Given the description of an element on the screen output the (x, y) to click on. 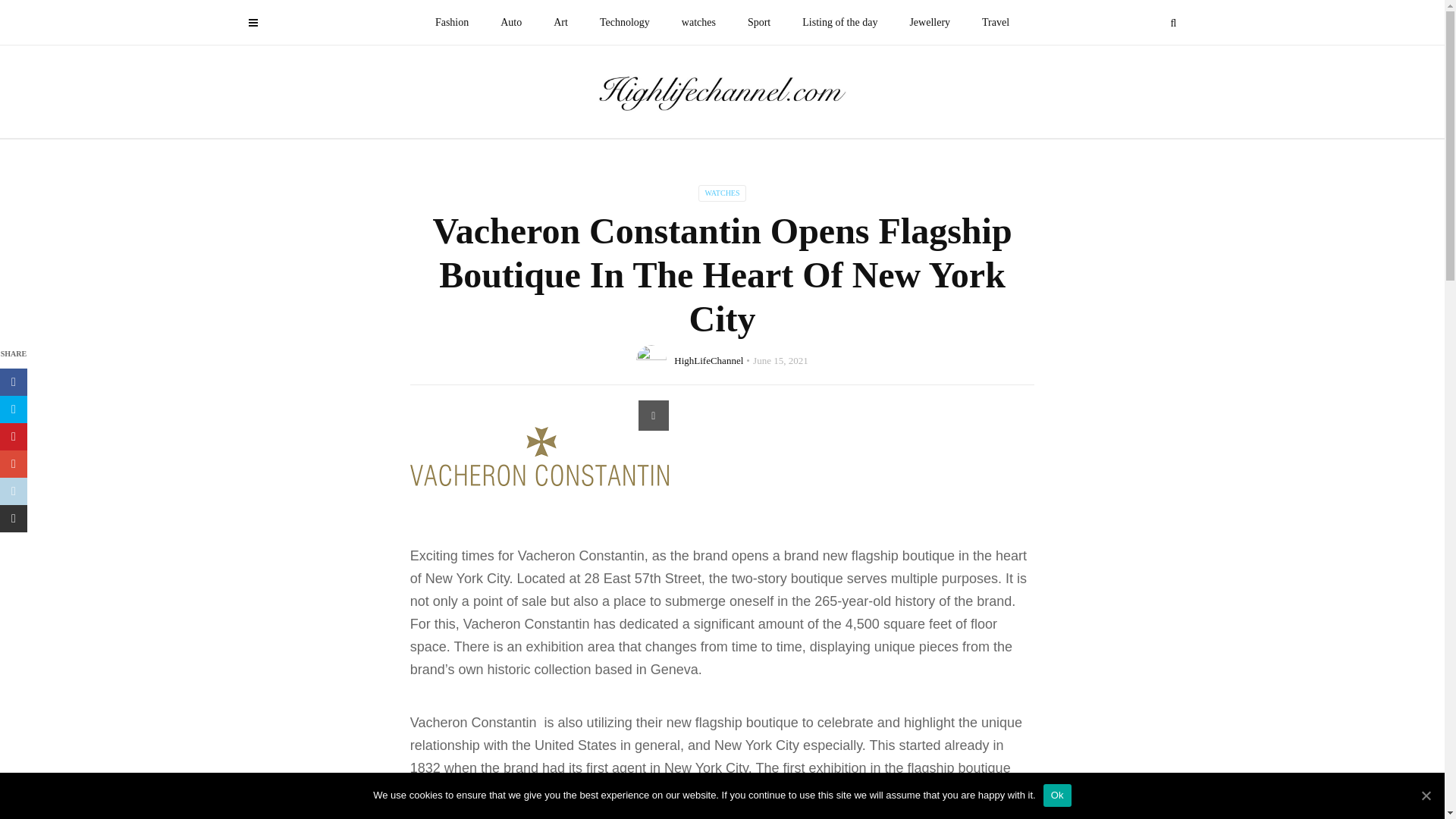
HighLifeChannel (708, 360)
Jewellery (929, 22)
WATCHES (721, 193)
Fashion (451, 22)
watches (698, 22)
Technology (624, 22)
Auto (510, 22)
Travel (995, 22)
Sport (759, 22)
Listing of the day (839, 22)
Art (560, 22)
